Given the description of an element on the screen output the (x, y) to click on. 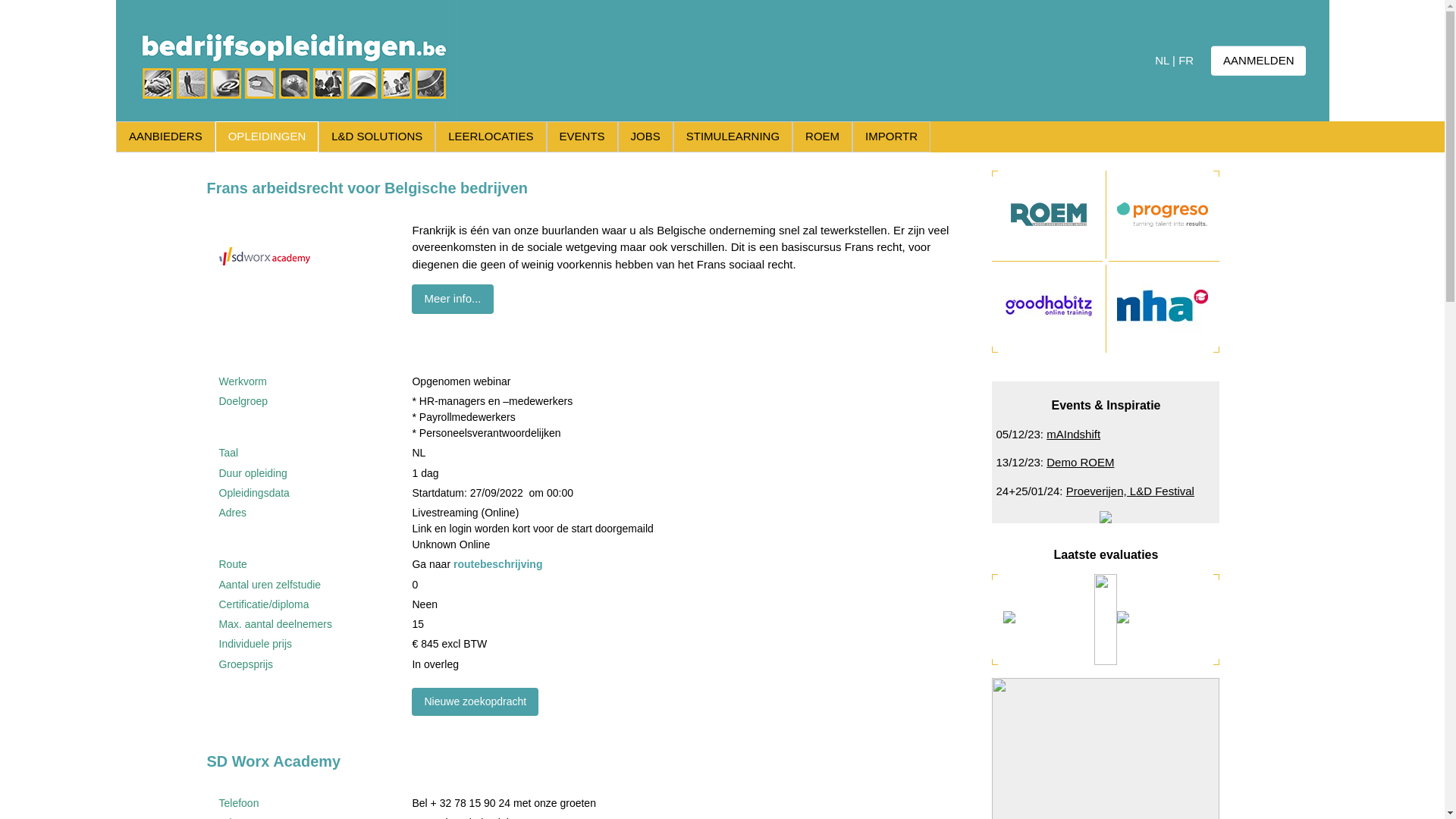
Demo ROEM Element type: text (1079, 461)
routebeschrijving Element type: text (497, 564)
Proeverijen, L&D Festival Element type: text (1130, 490)
JOBS Element type: text (644, 136)
IMPORTR Element type: text (891, 136)
OPLEIDINGEN Element type: text (266, 136)
ROEM Element type: text (822, 136)
mAIndshift Element type: text (1073, 433)
Nieuwe zoekopdracht Element type: text (474, 701)
STIMULEARNING Element type: text (731, 136)
FR Element type: text (1185, 59)
EVENTS Element type: text (581, 136)
Meer info... Element type: text (451, 298)
L&D SOLUTIONS Element type: text (376, 136)
LEERLOCATIES Element type: text (490, 136)
AANMELDEN Element type: text (1258, 60)
AANBIEDERS Element type: text (164, 136)
